Given the description of an element on the screen output the (x, y) to click on. 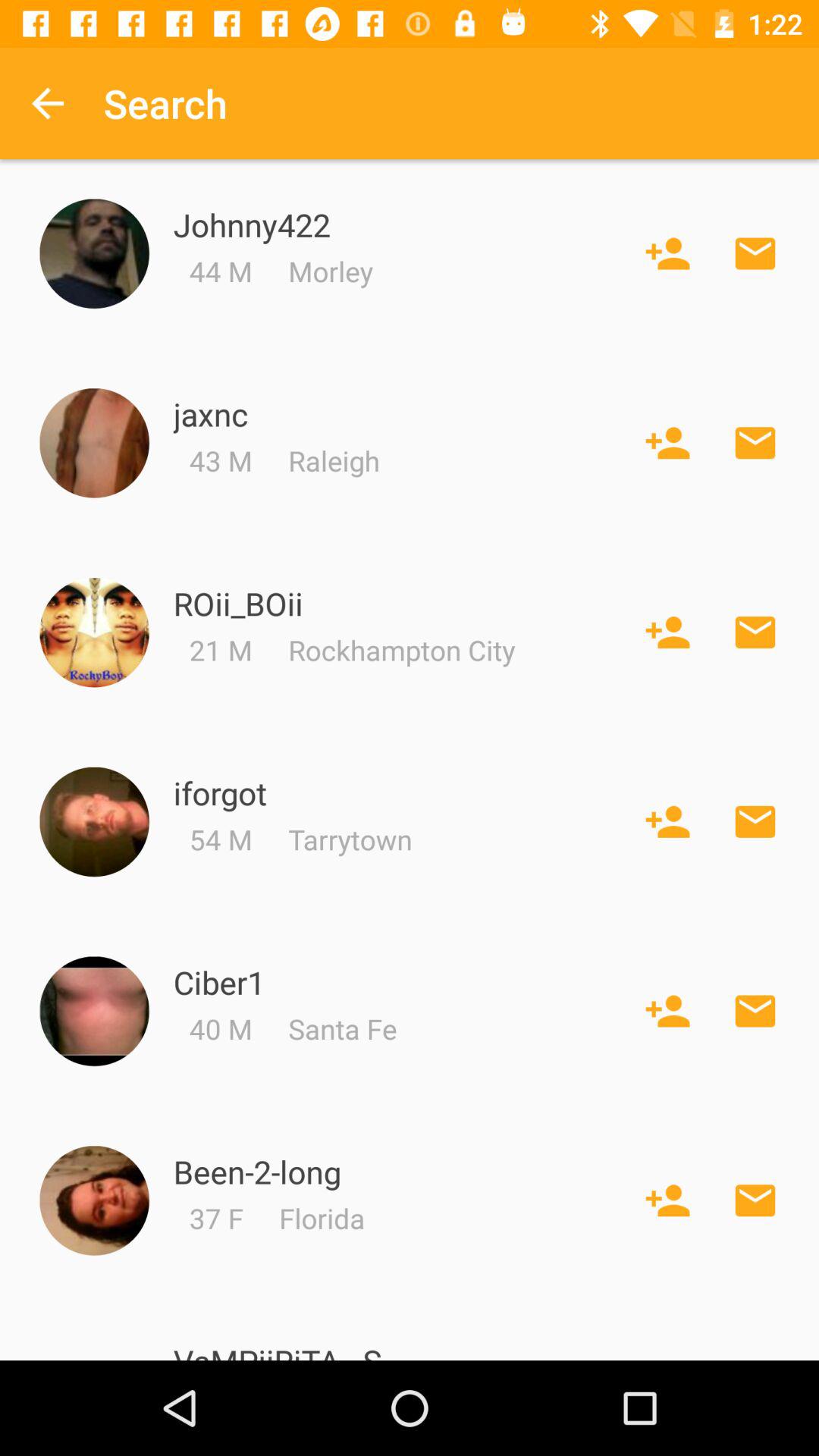
open profile (94, 1011)
